Given the description of an element on the screen output the (x, y) to click on. 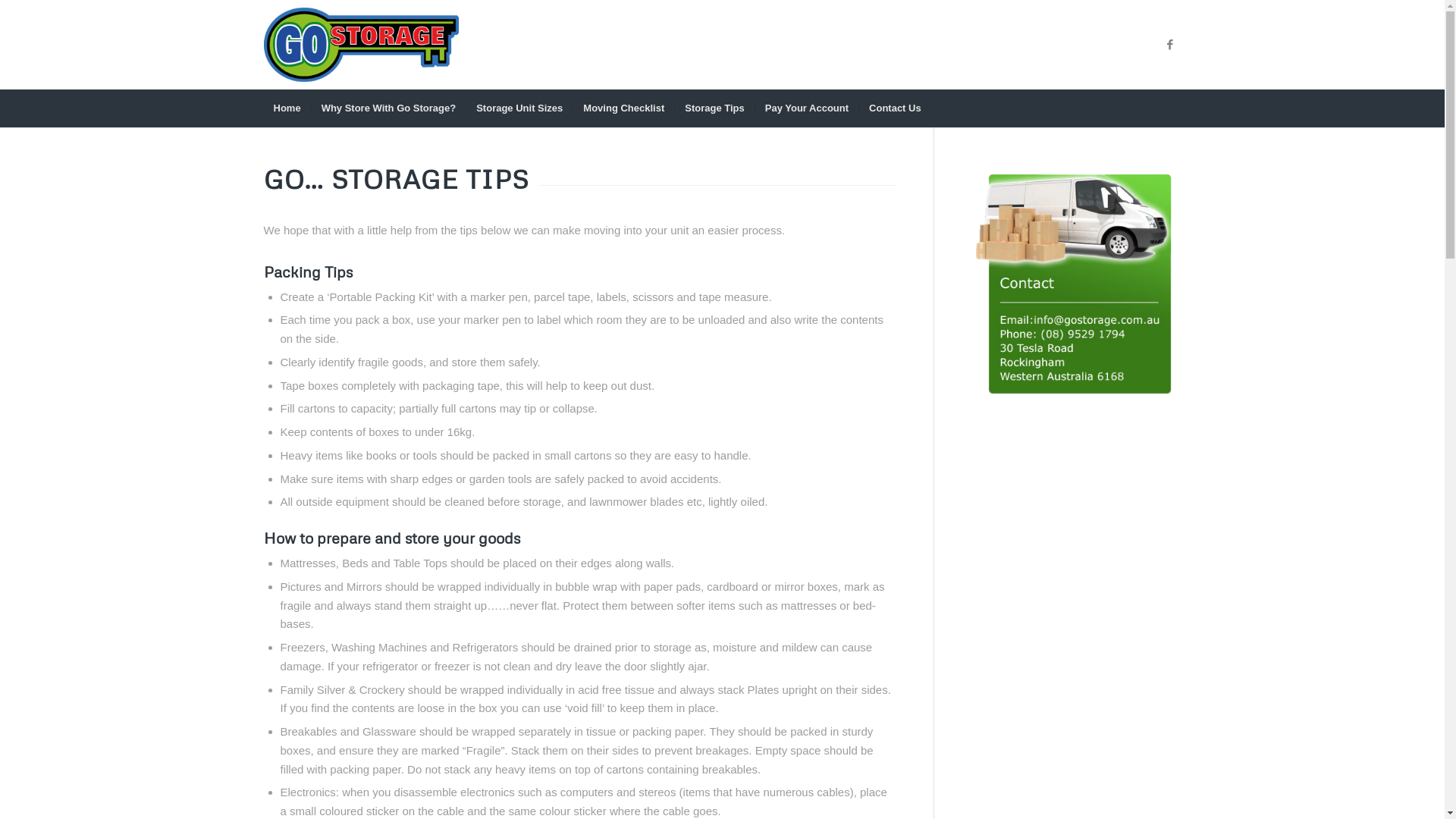
Contact Us Element type: text (894, 108)
Storage Tips Element type: text (714, 108)
Pay Your Account Element type: text (806, 108)
Home Element type: text (286, 108)
Storage Unit Sizes Element type: text (518, 108)
Moving Checklist Element type: text (623, 108)
Why Store With Go Storage? Element type: text (388, 108)
Facebook Element type: hover (1169, 44)
